Given the description of an element on the screen output the (x, y) to click on. 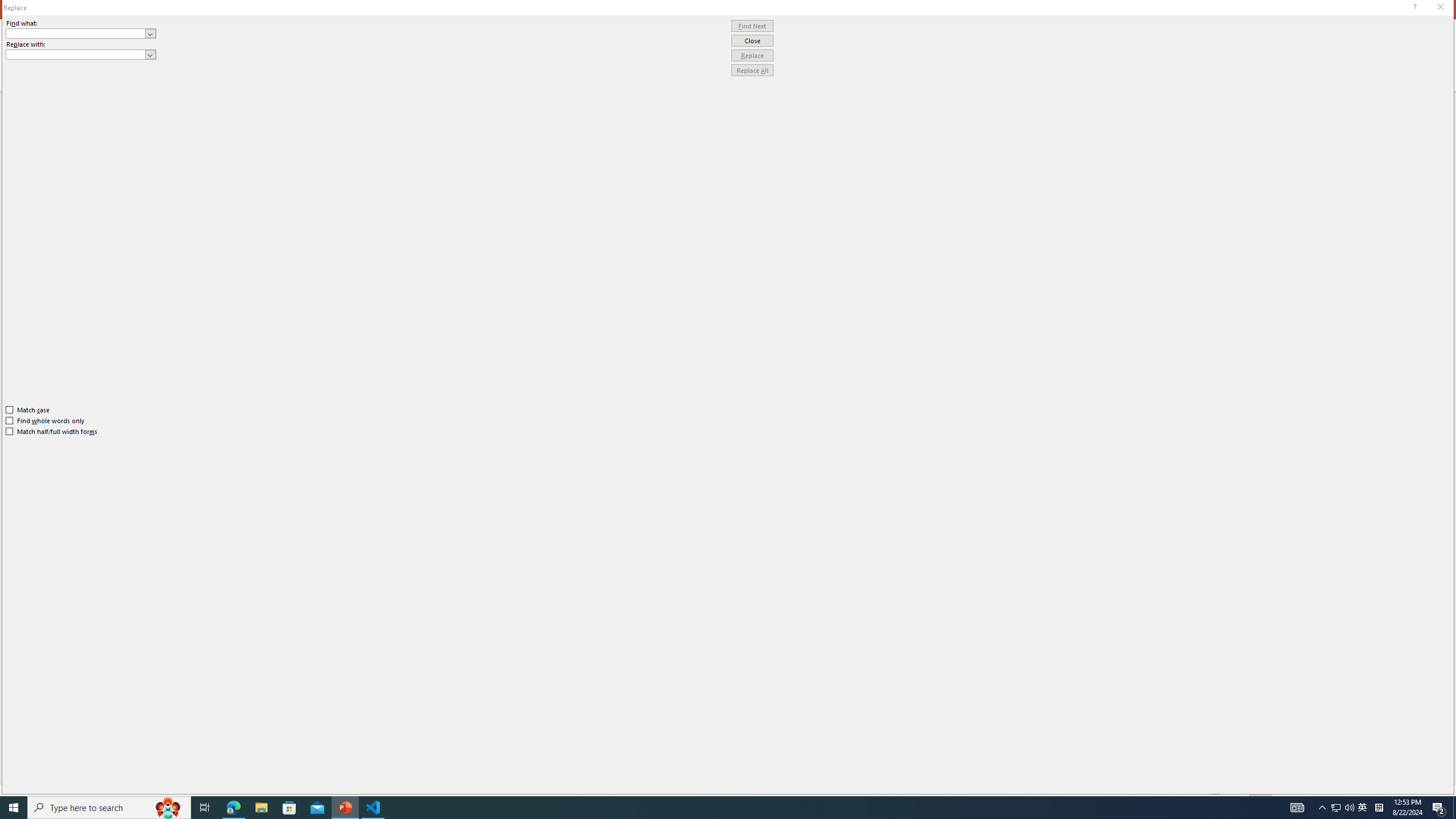
Picture Format (475, 28)
Wavy 3D art (752, 412)
Slide Notes (754, 754)
